Given the description of an element on the screen output the (x, y) to click on. 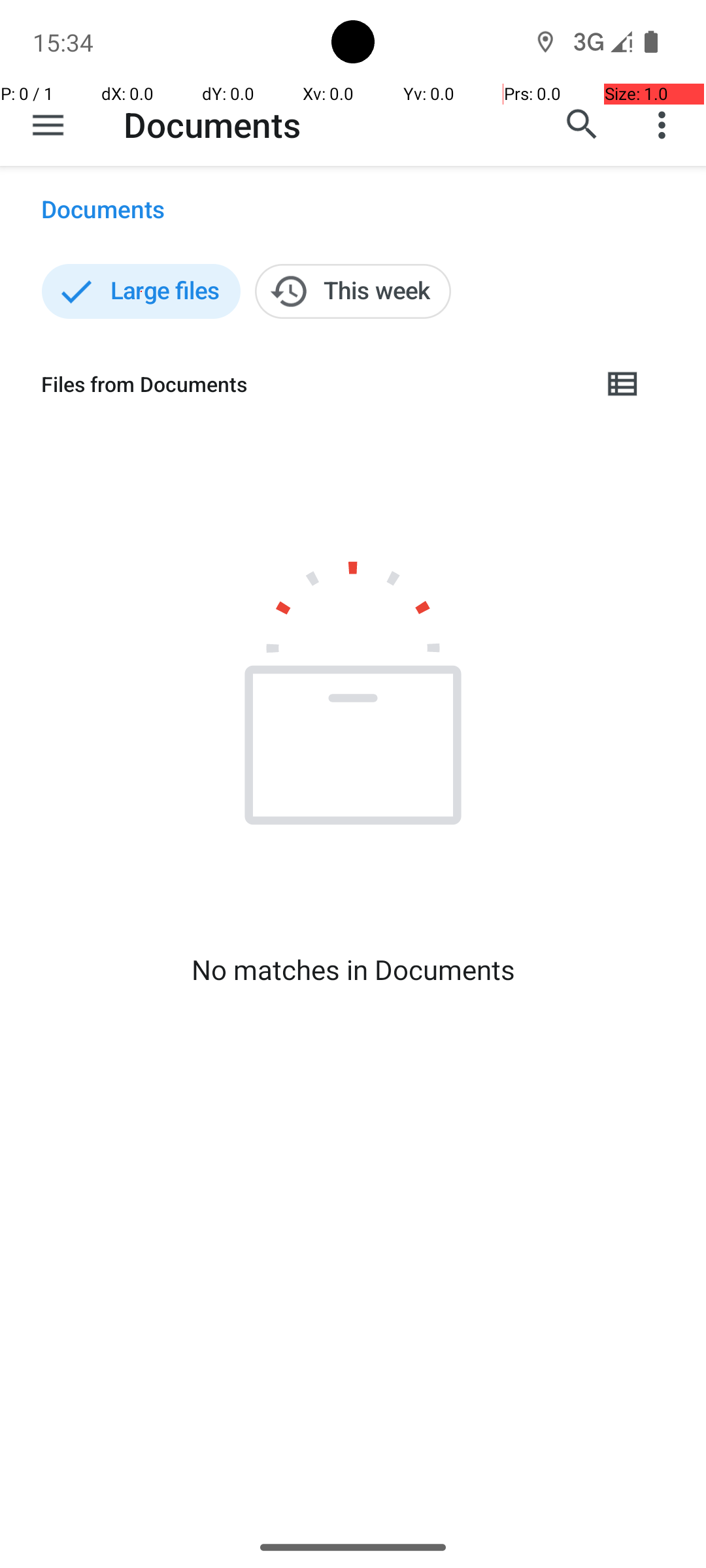
Files from Documents Element type: android.widget.TextView (311, 383)
No matches in Documents Element type: android.widget.TextView (352, 968)
